Given the description of an element on the screen output the (x, y) to click on. 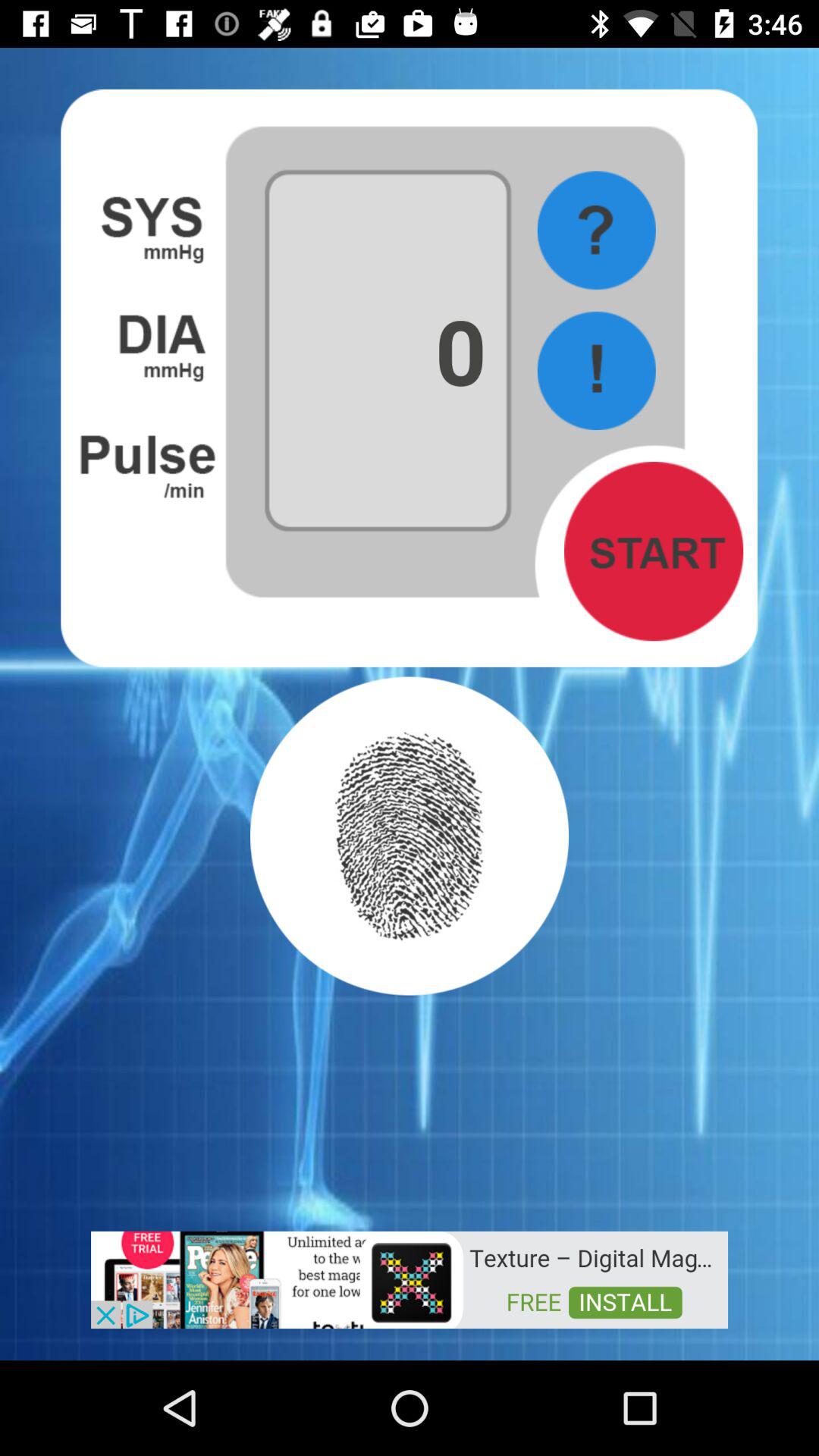
question mark (596, 230)
